Given the description of an element on the screen output the (x, y) to click on. 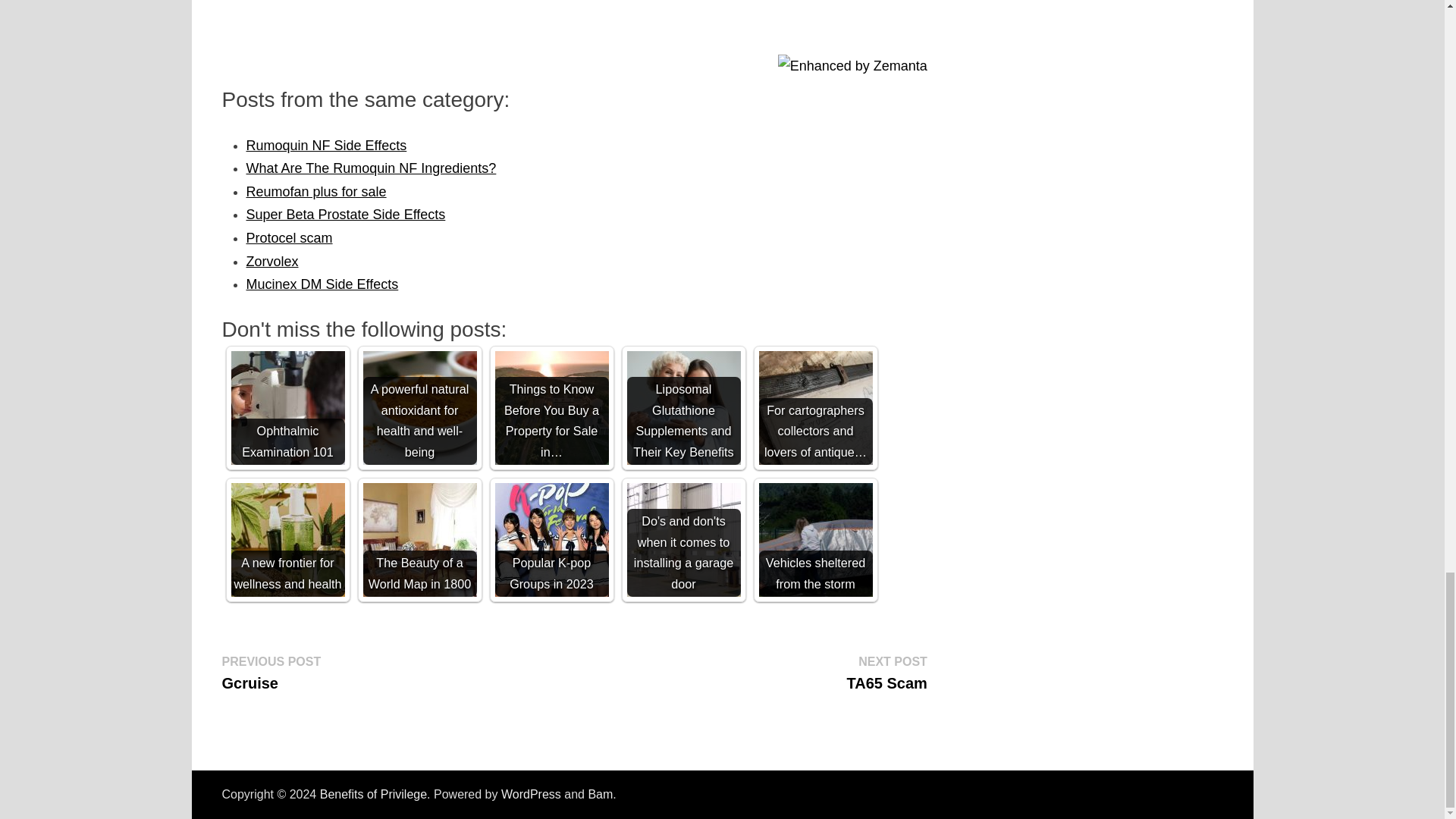
Mucinex DM Side Effects (321, 283)
Protocel scam (288, 237)
Zorvolex (272, 261)
Rumoquin NF Side Effects (326, 145)
What Are The Rumoquin NF Ingredients? (371, 168)
Ophthalmic Examination 101 (286, 408)
Liposomal Glutathione Supplements and Their Key Benefits (682, 408)
A powerful natural antioxidant for health and well-being (419, 408)
Super Beta Prostate Side Effects (345, 214)
